Given the description of an element on the screen output the (x, y) to click on. 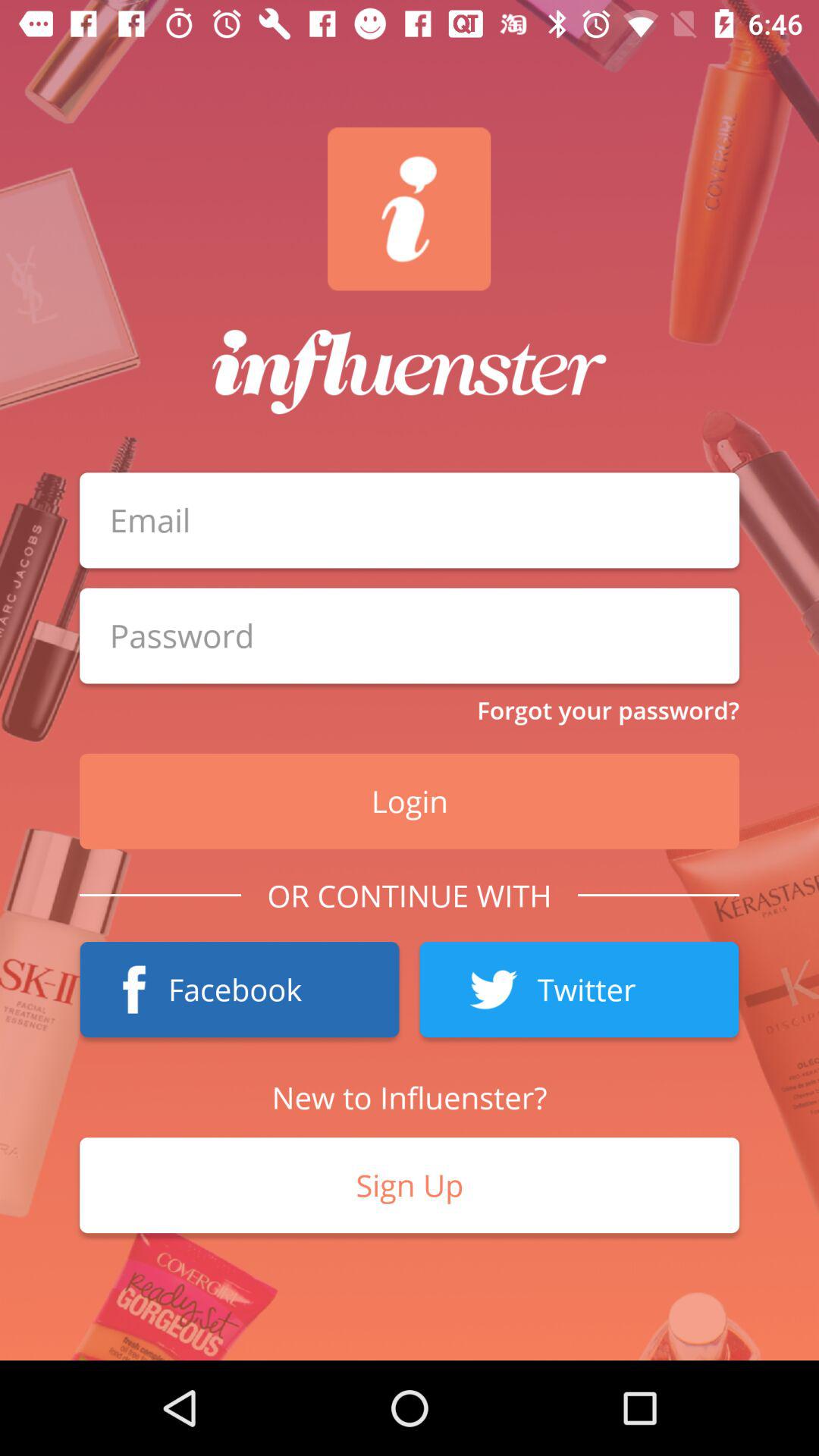
write your email (409, 520)
